Given the description of an element on the screen output the (x, y) to click on. 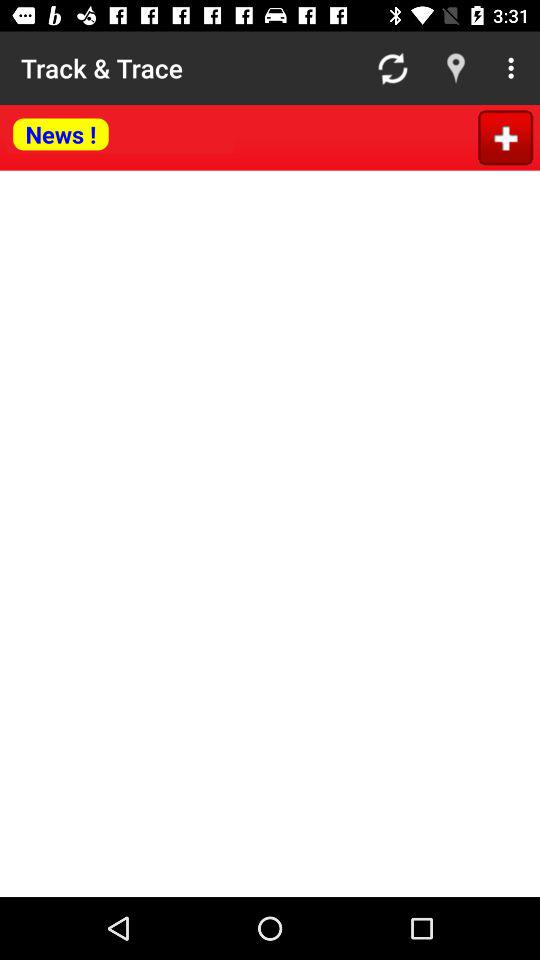
news article body (270, 533)
